Given the description of an element on the screen output the (x, y) to click on. 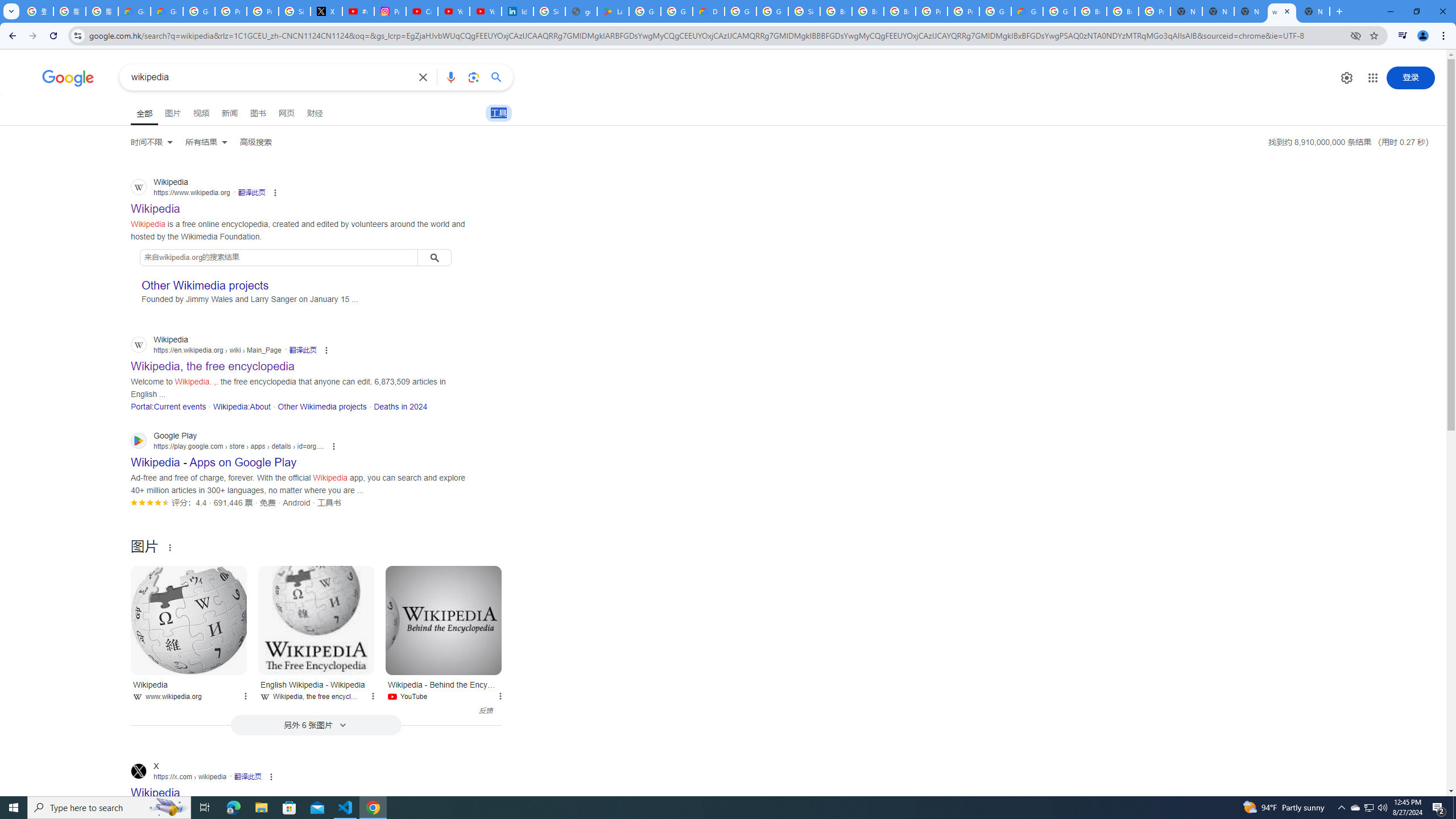
Privacy Help Center - Policies Help (262, 11)
Wikipedia (189, 619)
English Wikipedia - Wikipedia (315, 619)
Wikipedia - Behind the Encyclopedia (443, 619)
google_privacy_policy_en.pdf (581, 11)
X (326, 11)
Google Cloud Platform (740, 11)
